Given the description of an element on the screen output the (x, y) to click on. 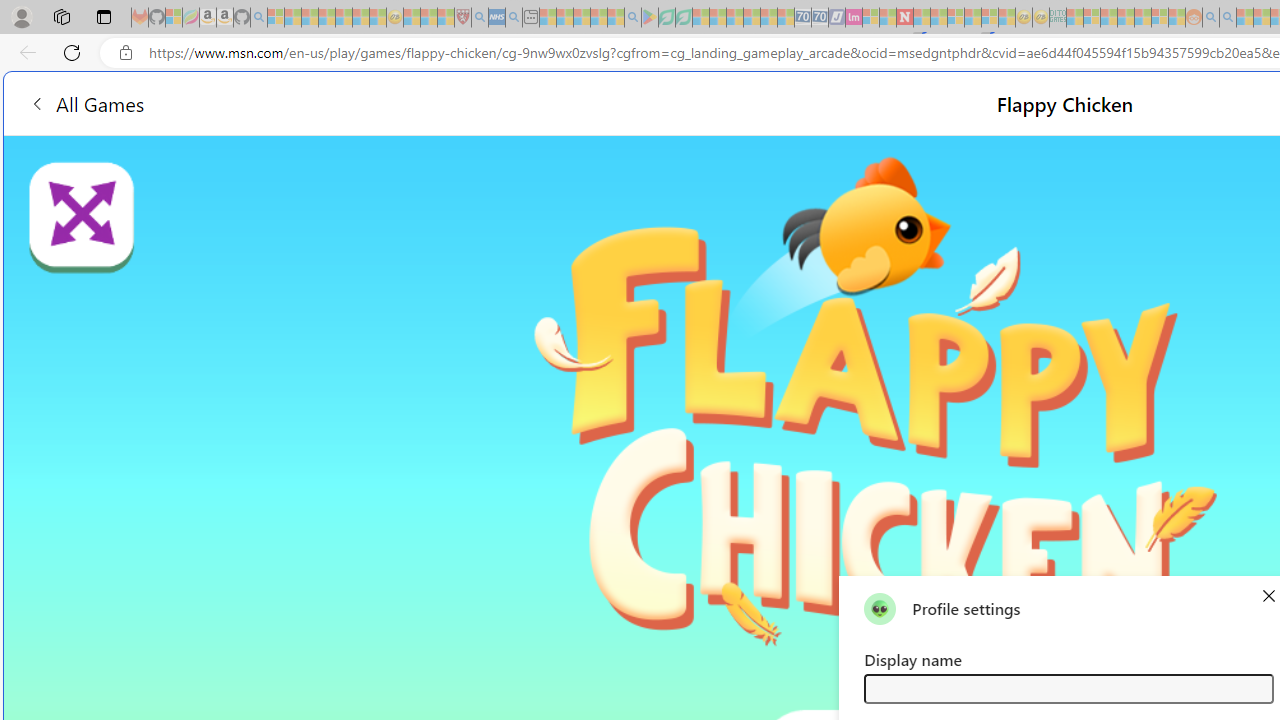
Pets - MSN - Sleeping (598, 17)
Latest Politics News & Archive | Newsweek.com - Sleeping (904, 17)
Bluey: Let's Play! - Apps on Google Play - Sleeping (649, 17)
Class: text-input (1068, 688)
Local - MSN - Sleeping (445, 17)
